Given the description of an element on the screen output the (x, y) to click on. 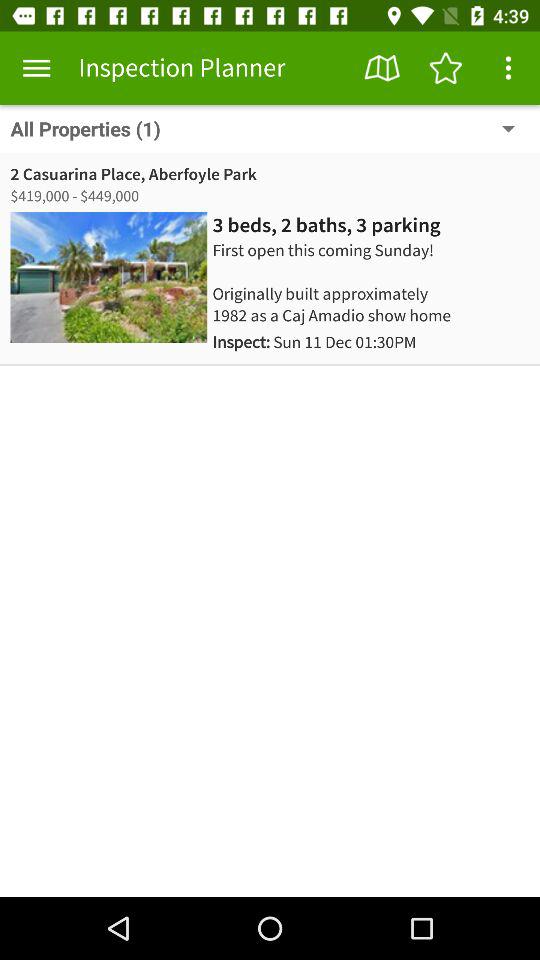
scroll to the 419 000 449 icon (76, 196)
